Given the description of an element on the screen output the (x, y) to click on. 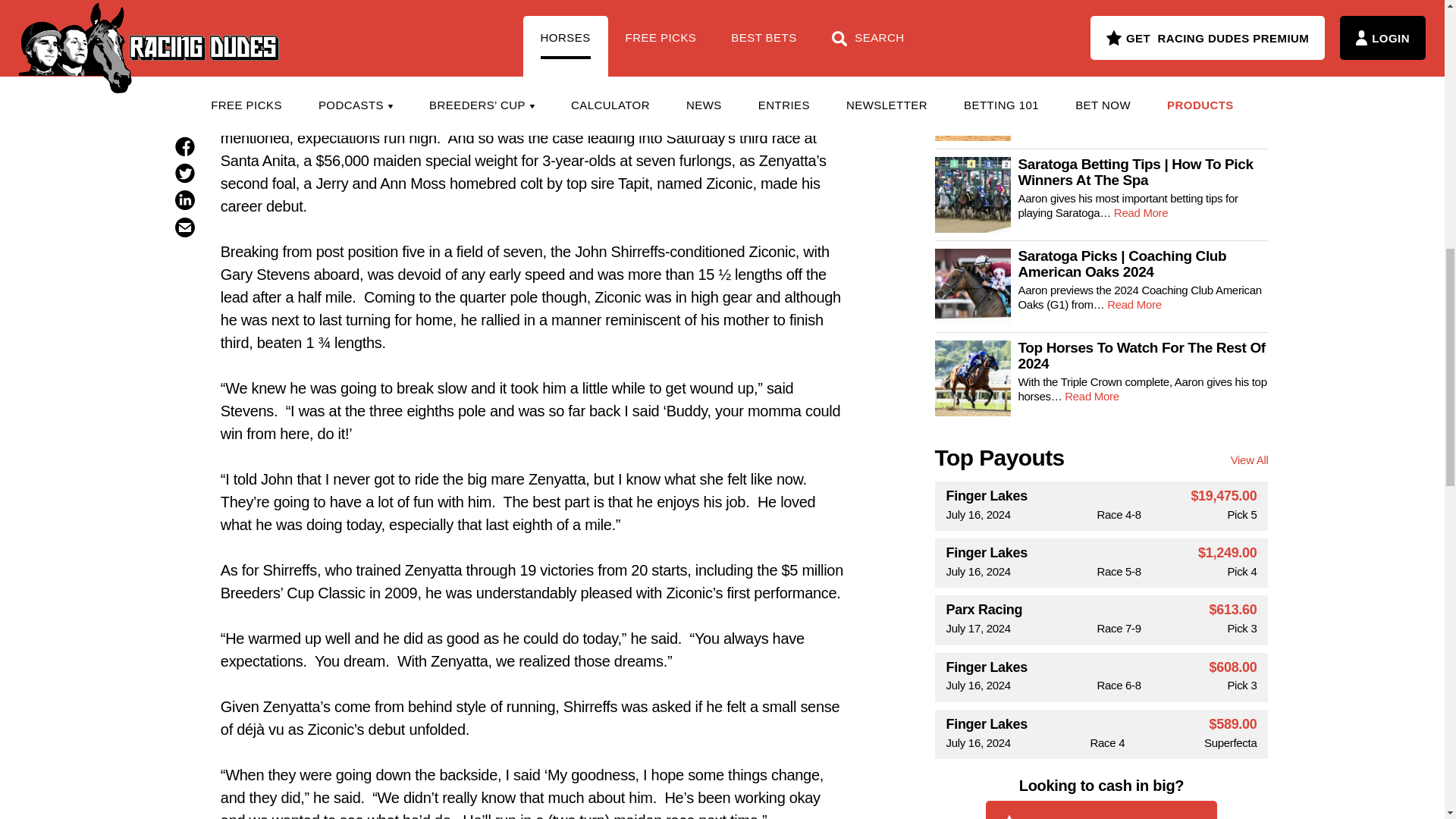
Posts by Jared Welch (543, 26)
